Given the description of an element on the screen output the (x, y) to click on. 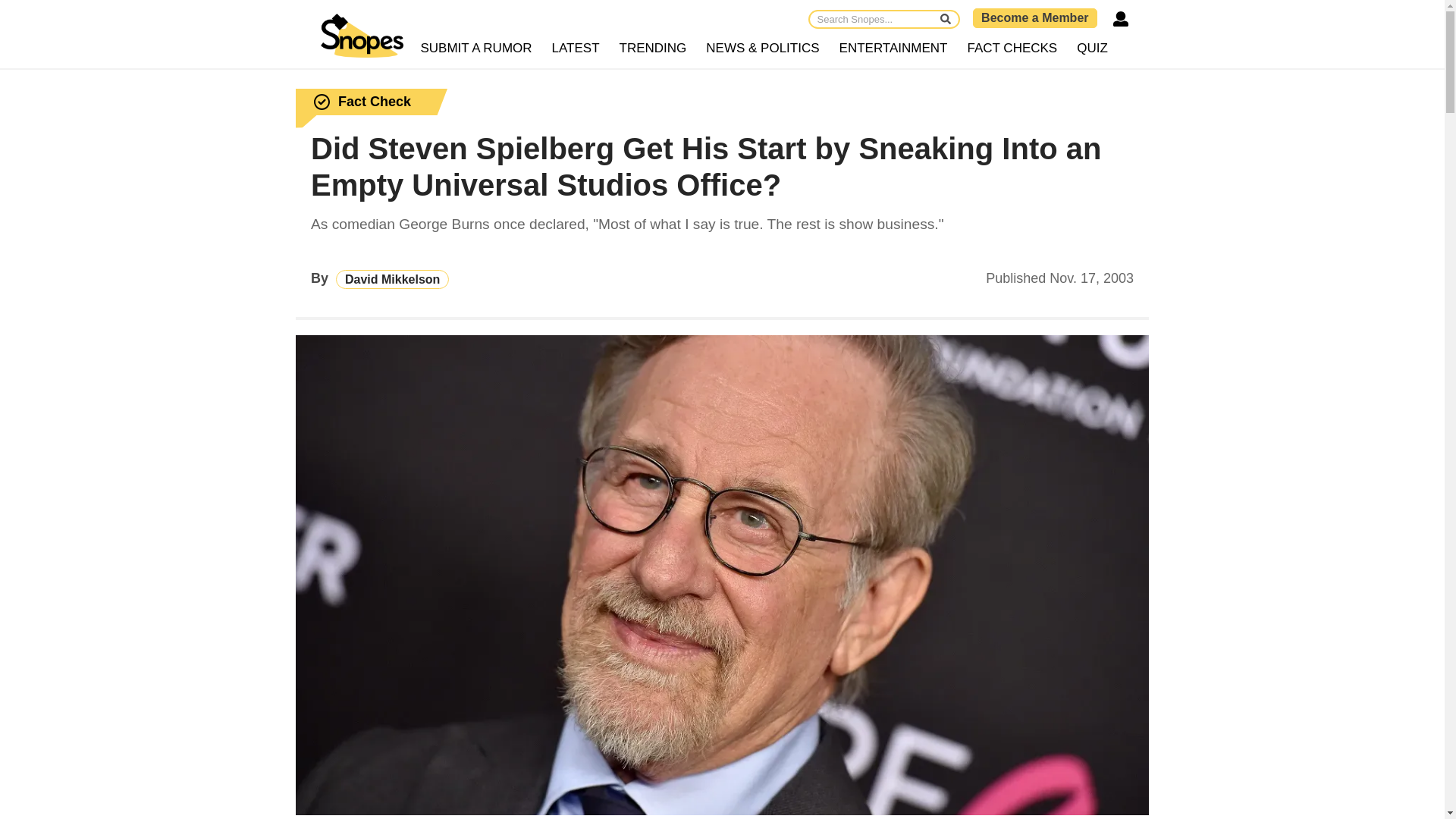
SUBMIT A RUMOR (475, 47)
Become a Member (1034, 17)
QUIZ (1092, 47)
David Mikkelson (392, 279)
ENTERTAINMENT (893, 47)
LATEST (576, 47)
FACT CHECKS (1011, 47)
TRENDING (653, 47)
